Given the description of an element on the screen output the (x, y) to click on. 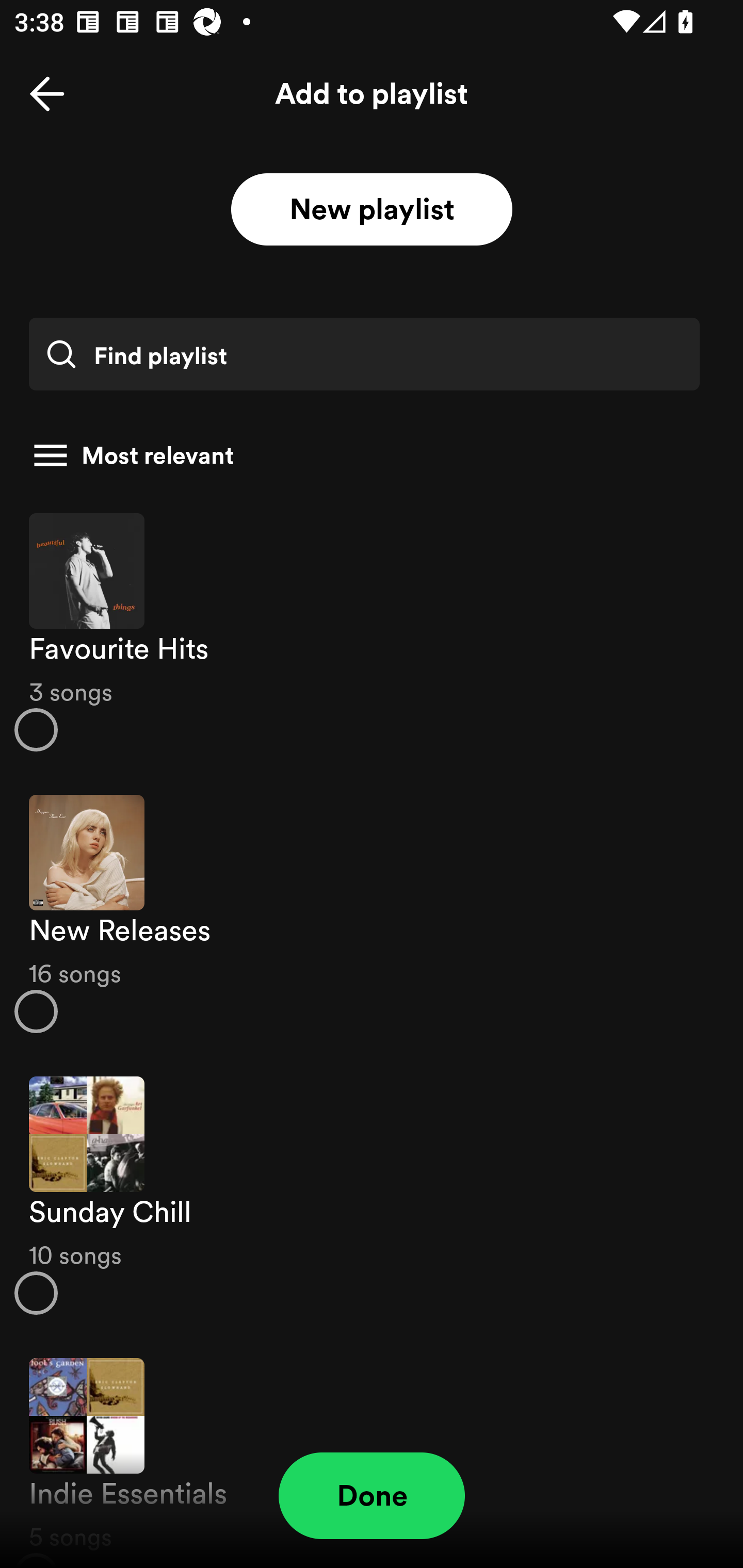
Back (46, 93)
New playlist (371, 210)
Find playlist (363, 354)
Most relevant (363, 455)
Favourite Hits 3 songs (371, 631)
New Releases 16 songs (371, 914)
Sunday Chill 10 songs (371, 1195)
Indie Essentials 5 songs (371, 1451)
Done (371, 1495)
